Given the description of an element on the screen output the (x, y) to click on. 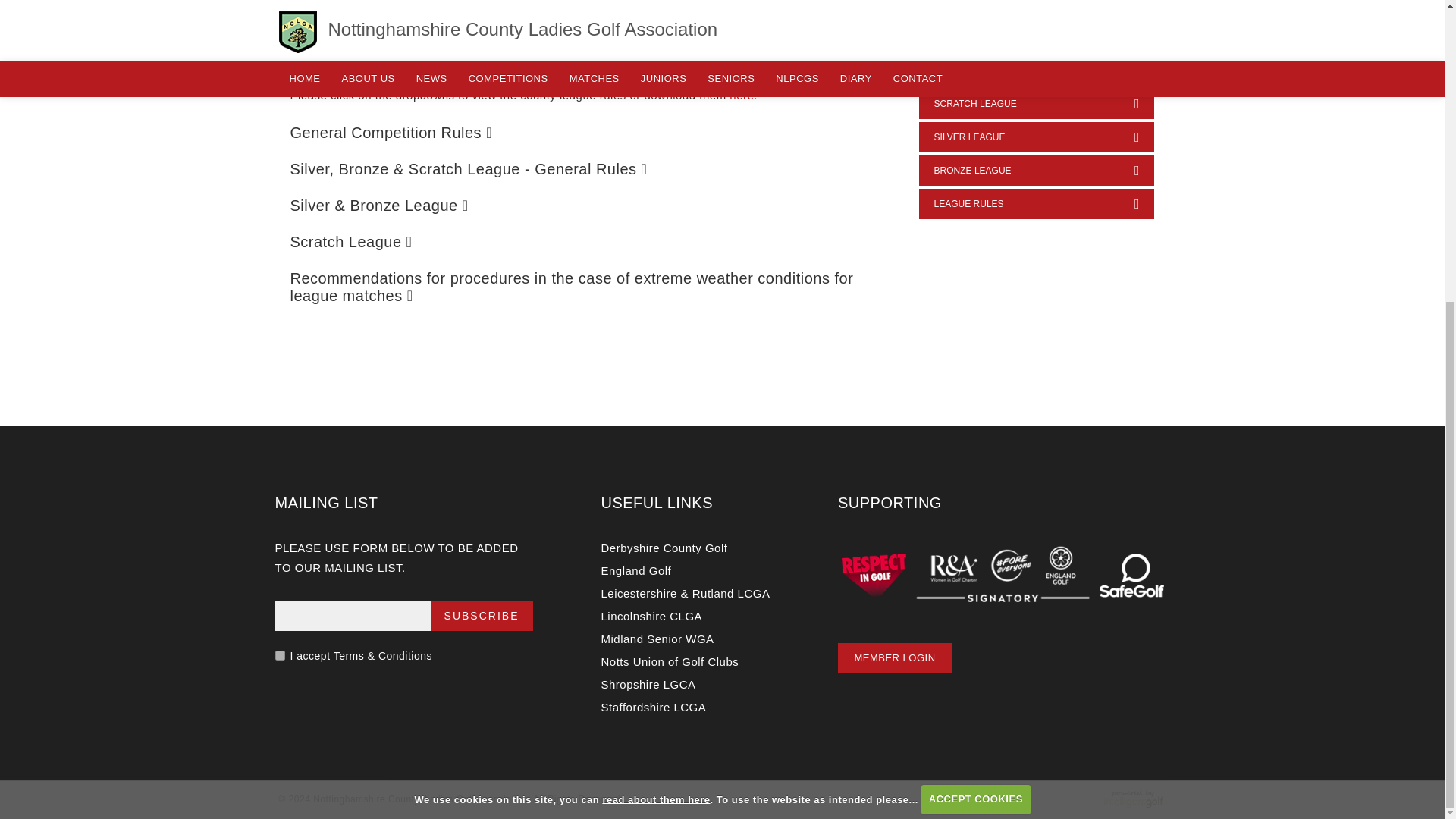
y (279, 655)
read about our cookies (656, 327)
Subscribe (481, 615)
